Given the description of an element on the screen output the (x, y) to click on. 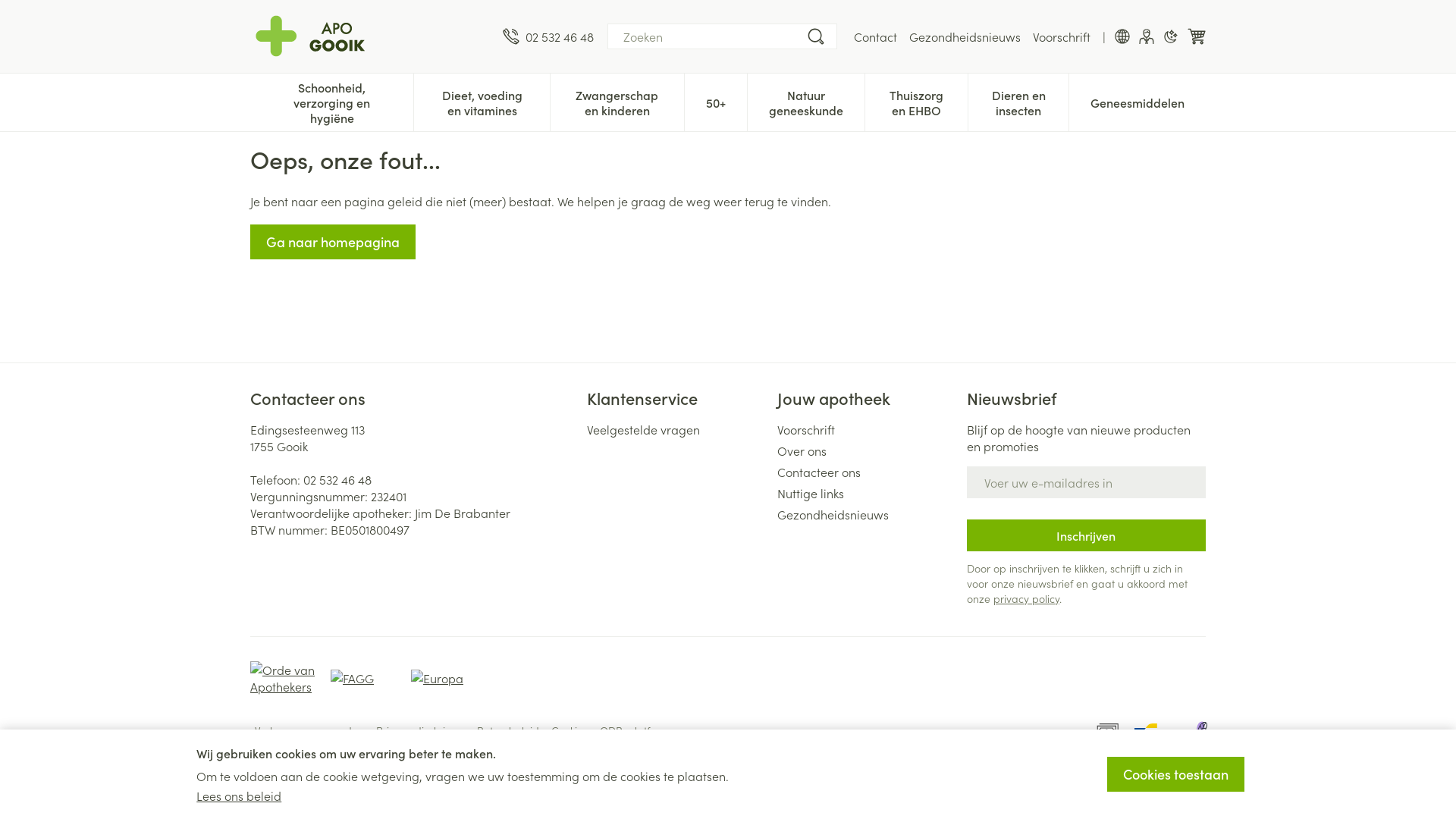
Winkelwagen Element type: text (1196, 36)
privacy policy Element type: text (1026, 597)
50+ Element type: text (715, 100)
Voorschrift Element type: text (865, 428)
Gezondheidsnieuws Element type: text (964, 36)
Apotheek De Brabanter Jim Element type: hover (315, 36)
Verkoopsvoorwaarden Element type: text (309, 729)
ODR-platform Element type: text (634, 729)
02 532 46 48 Element type: text (337, 478)
Nuttige links Element type: text (865, 492)
Dieet, voeding en vitamines Element type: text (481, 100)
Cookies Element type: text (569, 729)
02 532 46 48 Element type: text (547, 36)
Retourbeleid Element type: text (507, 729)
Contacteer ons Element type: text (865, 471)
Apotheek De Brabanter Jim Element type: hover (370, 36)
Veelgestelde vragen Element type: text (675, 428)
Cookies toestaan Element type: text (1175, 773)
Thuiszorg en EHBO Element type: text (916, 100)
Voorschrift Element type: text (1061, 36)
Klant menu Element type: text (1146, 35)
Donkere modus Element type: text (1170, 35)
Dieren en insecten Element type: text (1018, 100)
Zwangerschap en kinderen Element type: text (617, 100)
Ga naar homepagina Element type: text (332, 241)
Natuur geneeskunde Element type: text (805, 100)
Over ons Element type: text (865, 450)
Gezondheidsnieuws Element type: text (865, 513)
Contact Element type: text (875, 36)
Geneesmiddelen Element type: text (1137, 100)
Inschrijven Element type: text (1085, 535)
Zoeken Element type: text (815, 36)
Privacy disclaimer Element type: text (420, 729)
Lees ons beleid Element type: text (238, 795)
Talen Element type: text (1121, 35)
